Given the description of an element on the screen output the (x, y) to click on. 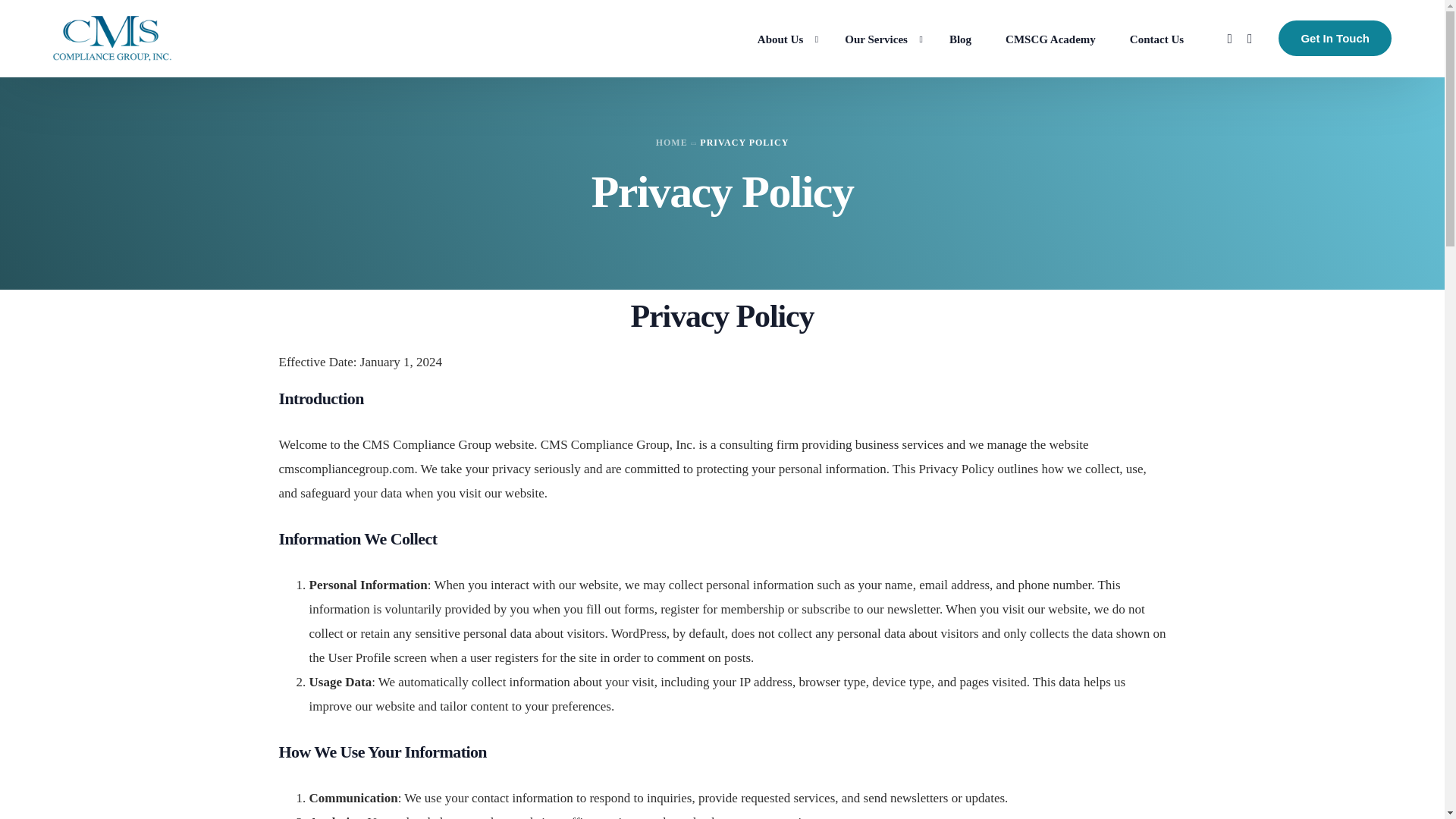
Get In Touch (1334, 38)
CMSCG Academy (1050, 38)
Our Services (880, 38)
HOME (671, 142)
About Us (783, 38)
Contact Us (1155, 38)
